Given the description of an element on the screen output the (x, y) to click on. 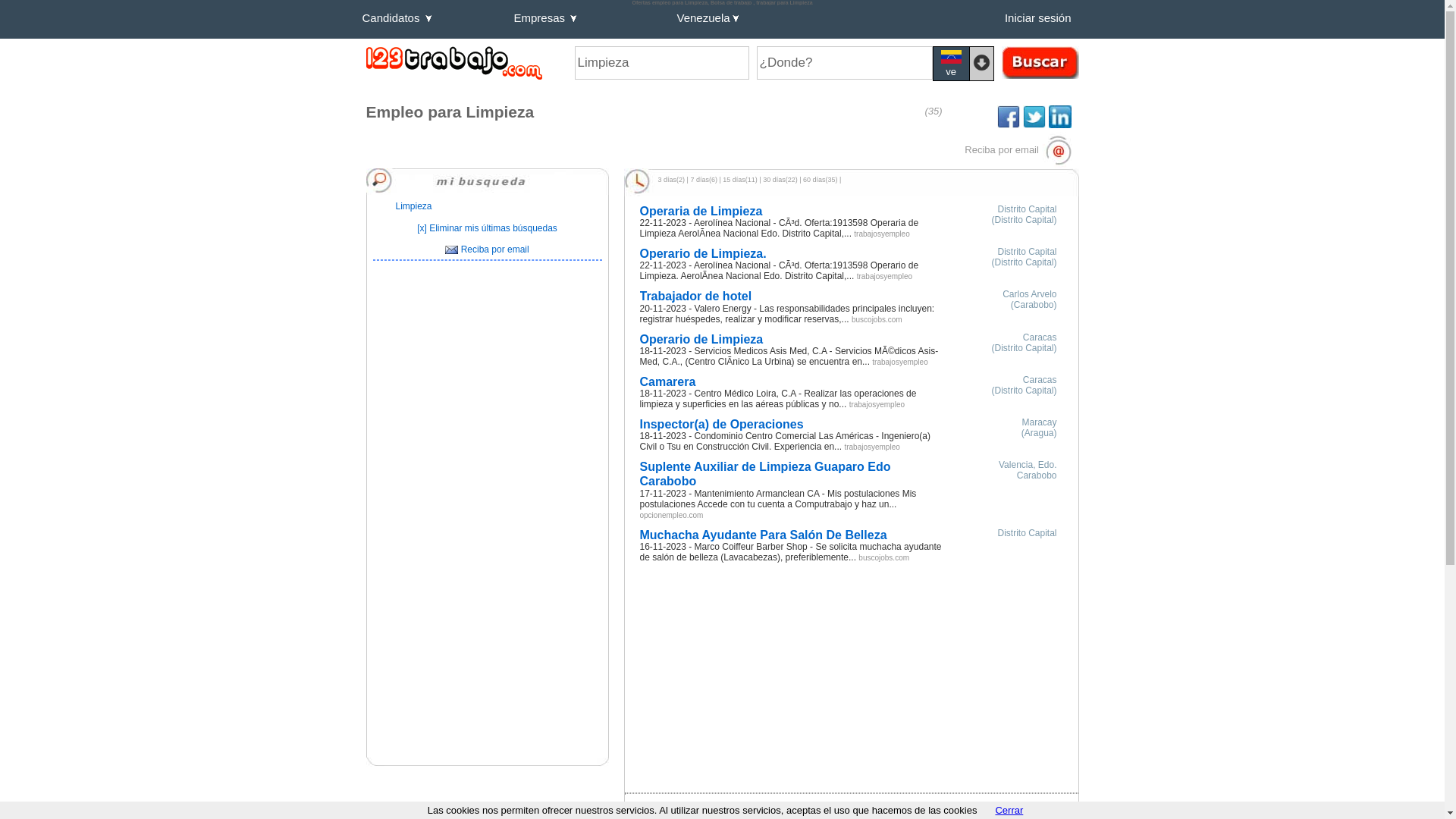
Advertisement Element type: hover (486, 573)
Suplente Auxiliar de Limpieza Guaparo Edo Carabobo Element type: text (791, 473)
Camarera Element type: text (791, 381)
Advertisement Element type: hover (486, 714)
Operario de Limpieza. Element type: text (791, 253)
  ve Element type: text (950, 63)
trabajosyempleo Element type: text (899, 361)
123trabajo en facebook Element type: hover (1008, 116)
trabajosyempleo Element type: text (881, 233)
Inspector(a) de Operaciones Element type: text (791, 424)
Advertisement Element type: hover (486, 381)
Cerrar Element type: text (1008, 809)
Operaria de Limpieza Element type: text (791, 210)
trabajosyempleo Element type: text (871, 446)
Operario de Limpieza Element type: text (791, 339)
Trabajador de hotel Element type: text (791, 295)
Empresas Element type: text (590, 21)
123trabajo en twitter Element type: hover (1033, 116)
trabajosyempleo Element type: text (876, 403)
trabajosyempleo Element type: text (884, 275)
Reciba por email Element type: text (1017, 149)
123trabajo.com en  Linkedin Element type: hover (1059, 116)
Reciba por email Element type: text (486, 249)
Advertisement Element type: hover (756, 668)
buscojobs.com Element type: text (883, 557)
Venezuela Element type: text (738, 21)
Limpieza Element type: text (413, 205)
buscojobs.com Element type: text (876, 318)
opcionempleo.com Element type: text (671, 514)
Advertisement Element type: hover (801, 803)
Candidatos Element type: text (433, 21)
